Given the description of an element on the screen output the (x, y) to click on. 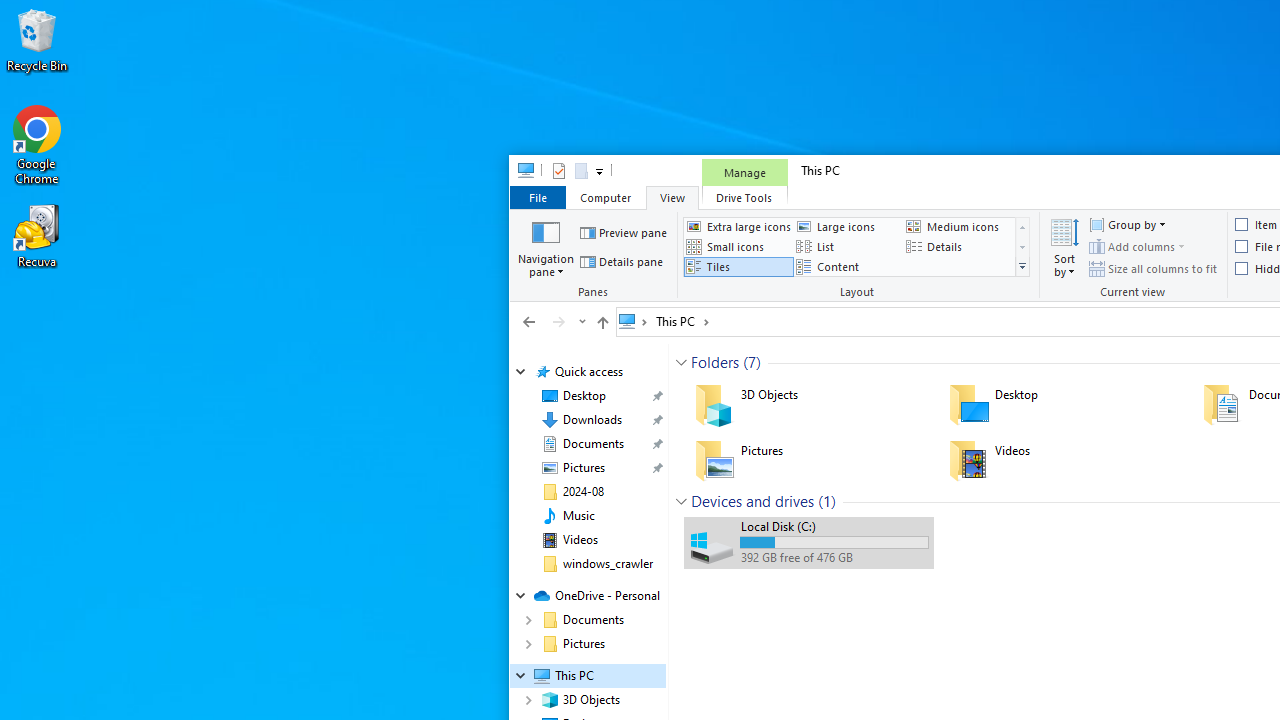
Manage (744, 172)
Recent locations (580, 321)
Pictures (pinned) (583, 467)
Drive Tools (744, 196)
Computer (605, 196)
Name (834, 526)
Views (1022, 267)
2024-08 (582, 491)
Pictures (808, 460)
List (848, 246)
Available space (834, 557)
Count (827, 501)
Small icons (738, 246)
Documents (pinned) (592, 443)
Quick Access Toolbar (569, 170)
